Given the description of an element on the screen output the (x, y) to click on. 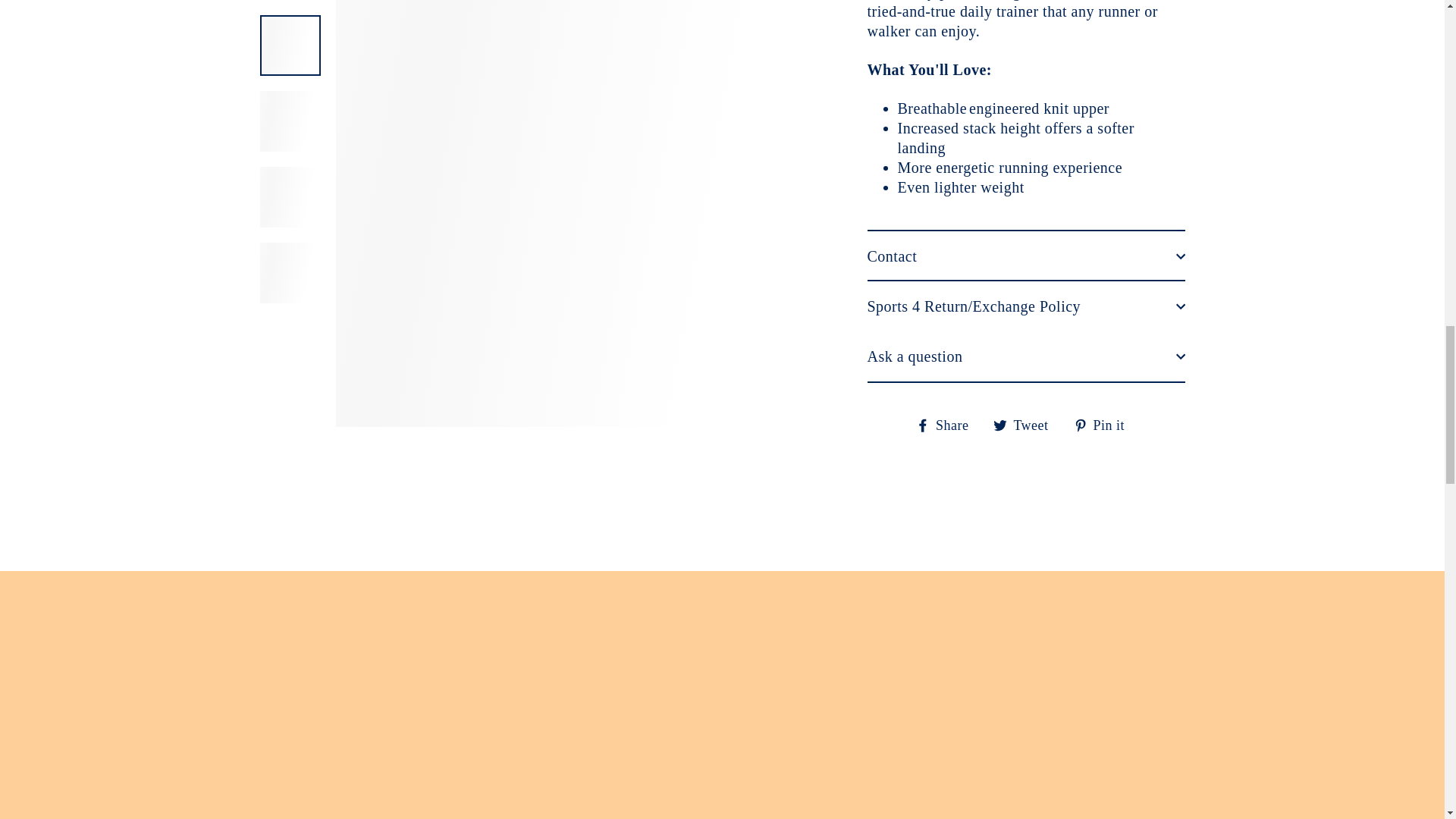
Pin on Pinterest (1105, 94)
Tweet on Twitter (1025, 94)
Share on Facebook (947, 94)
